Given the description of an element on the screen output the (x, y) to click on. 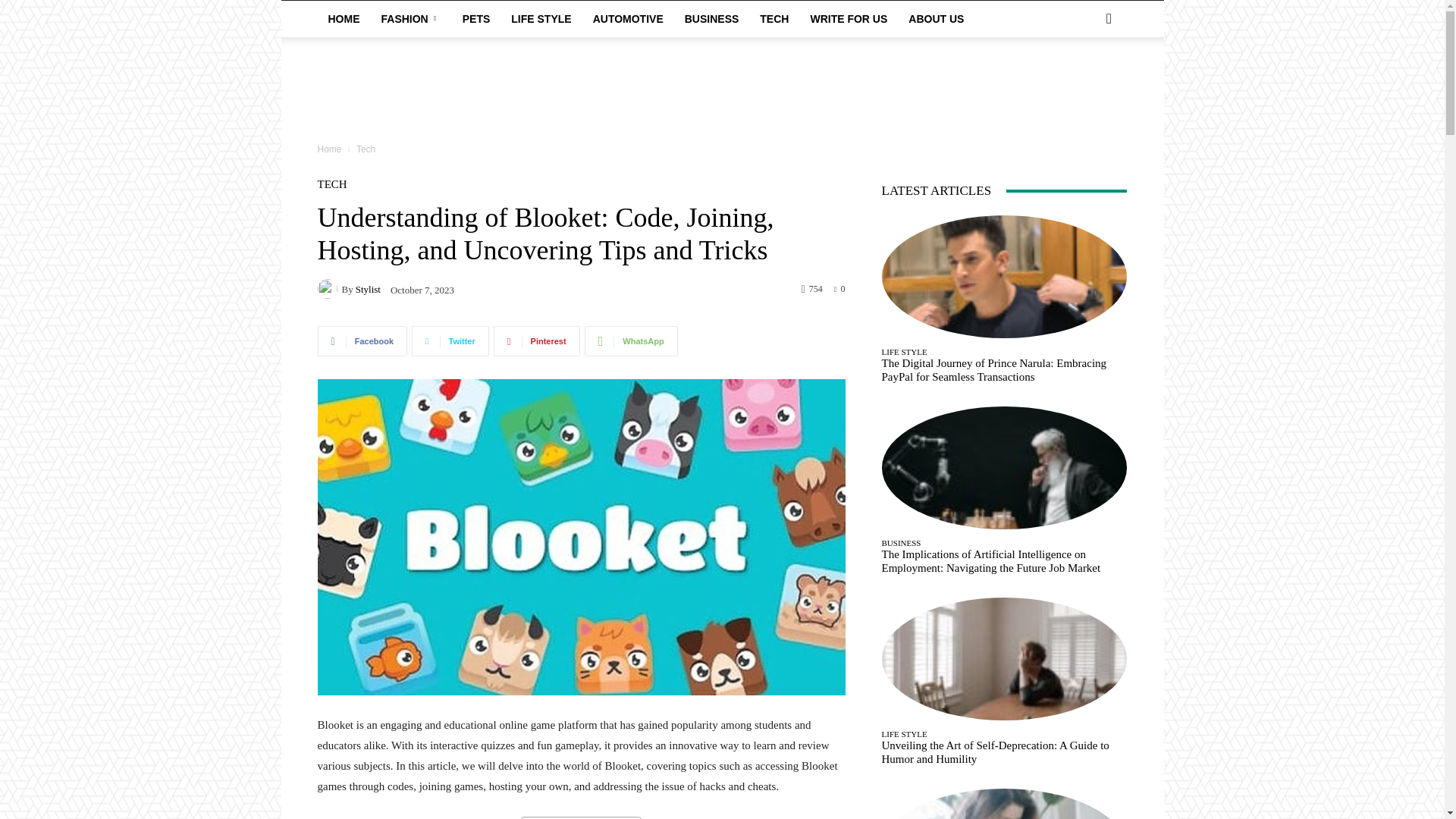
0 (839, 287)
AUTOMOTIVE (628, 18)
FASHION (410, 18)
Stylist (367, 289)
Home (328, 149)
Tech (365, 149)
TECH (774, 18)
Search (1085, 79)
HOME (343, 18)
TECH (331, 184)
View all posts in Tech (365, 149)
BUSINESS (711, 18)
WRITE FOR US (848, 18)
LIFE STYLE (540, 18)
